Given the description of an element on the screen output the (x, y) to click on. 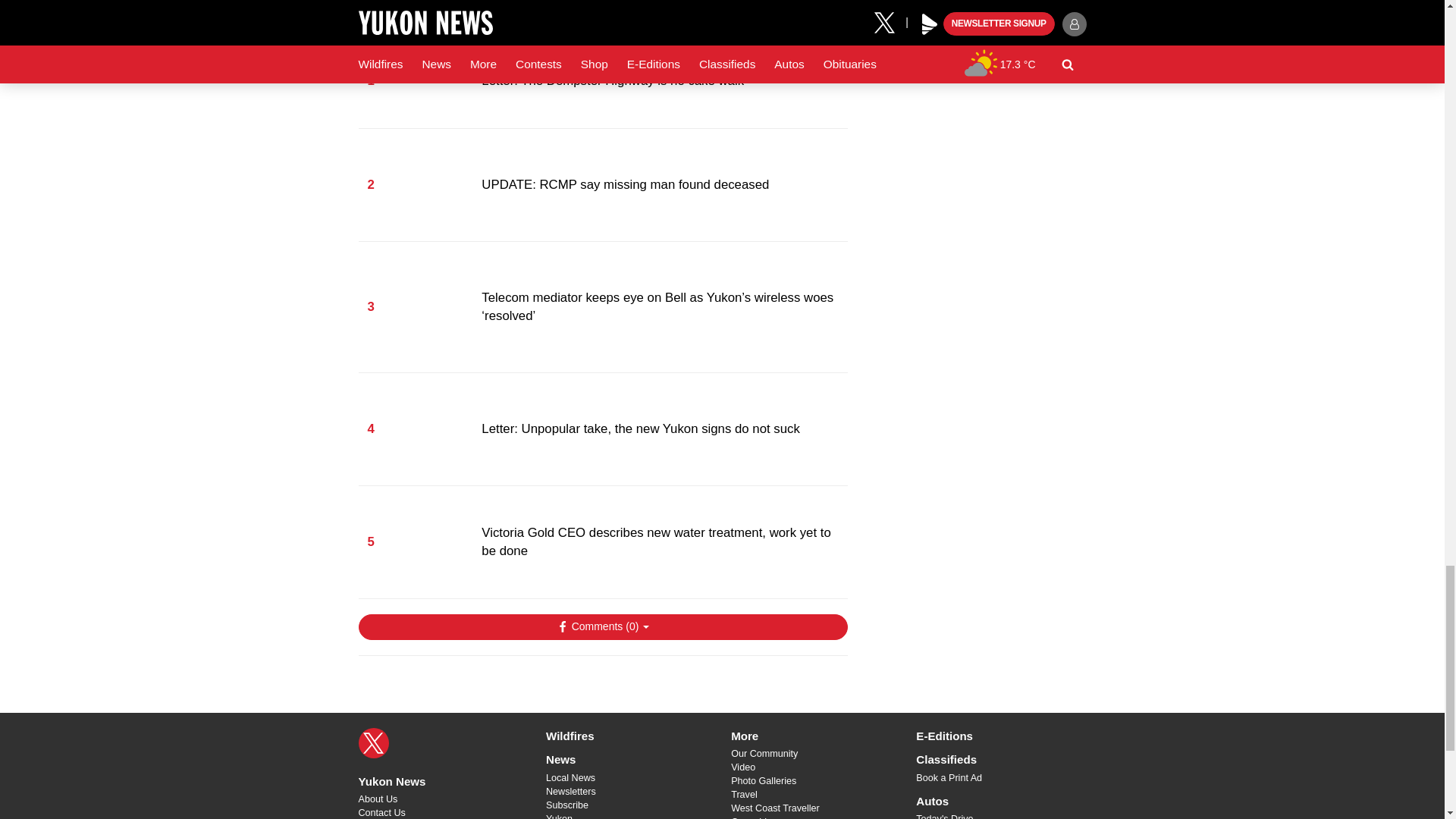
Show Comments (602, 626)
X (373, 743)
